Given the description of an element on the screen output the (x, y) to click on. 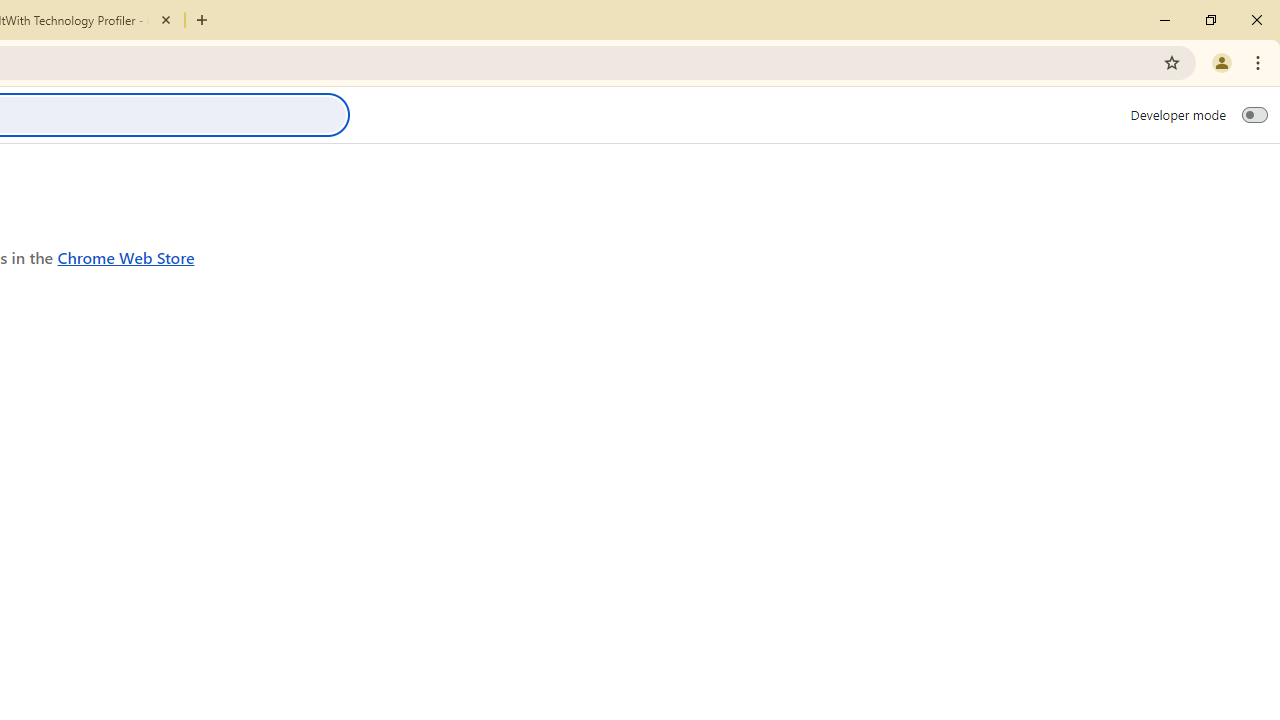
Chrome Web Store (125, 256)
Developer mode (1254, 114)
